Given the description of an element on the screen output the (x, y) to click on. 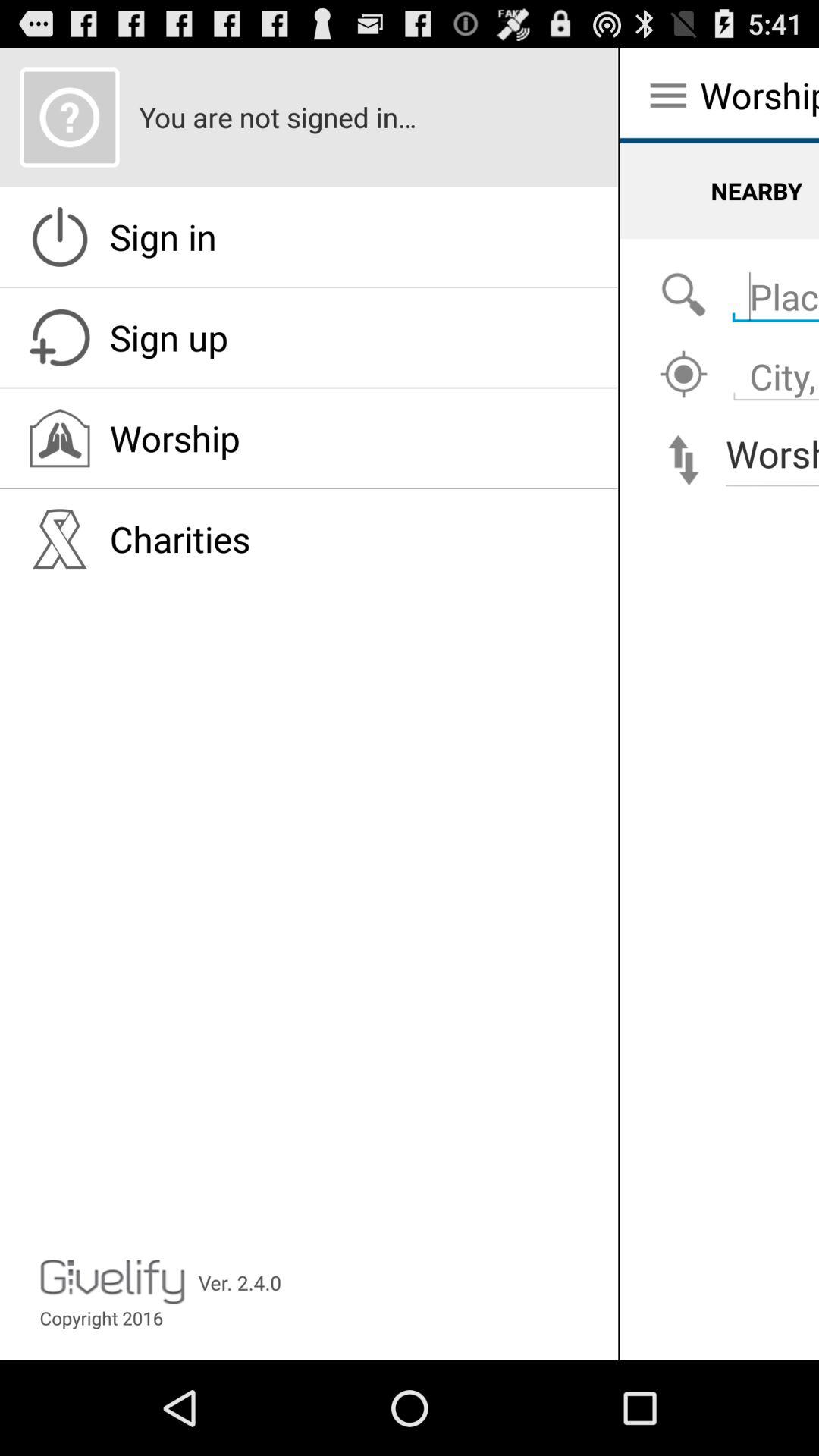
click to city (683, 375)
